Given the description of an element on the screen output the (x, y) to click on. 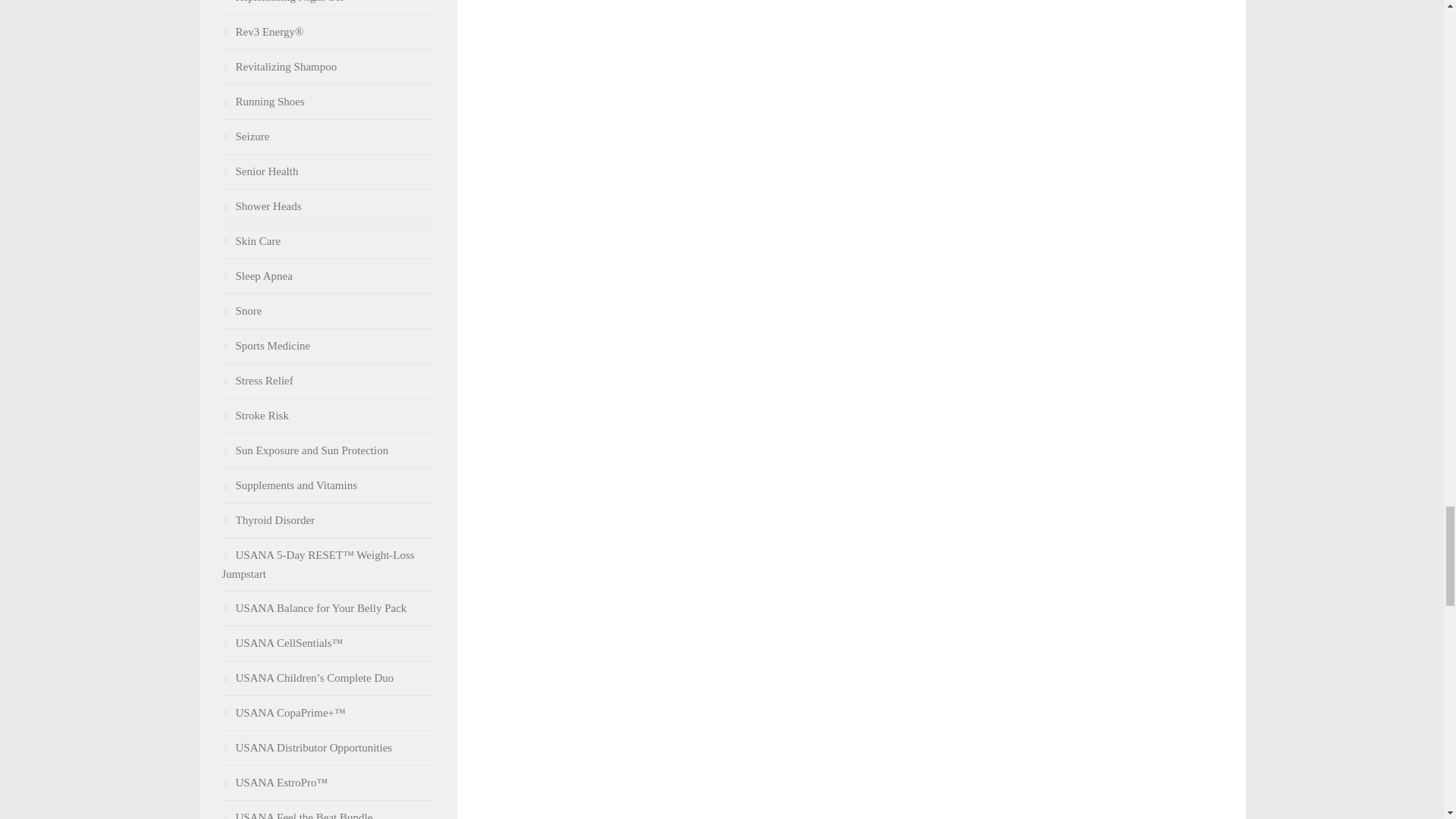
Become A USANA Independent Distributor (306, 747)
